Given the description of an element on the screen output the (x, y) to click on. 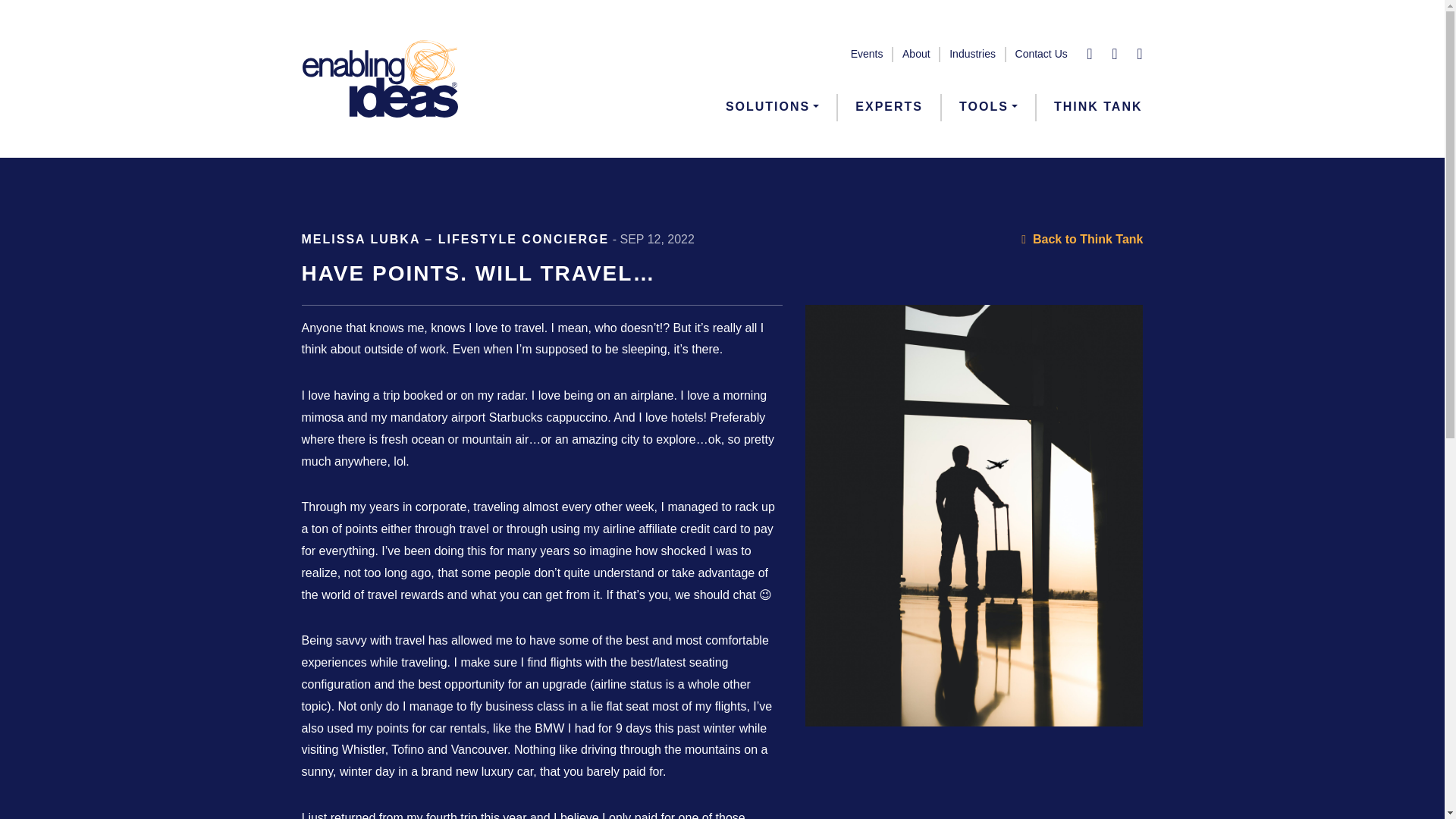
Events (866, 54)
EXPERTS (889, 106)
Industries (972, 54)
Industries (972, 54)
Tools (988, 106)
Experts (889, 106)
TOOLS (988, 106)
About (916, 54)
THINK TANK (1098, 106)
Contact Us (1040, 54)
Solutions (771, 106)
Events (866, 54)
SOLUTIONS (771, 106)
Contact Us (1040, 54)
About (916, 54)
